Given the description of an element on the screen output the (x, y) to click on. 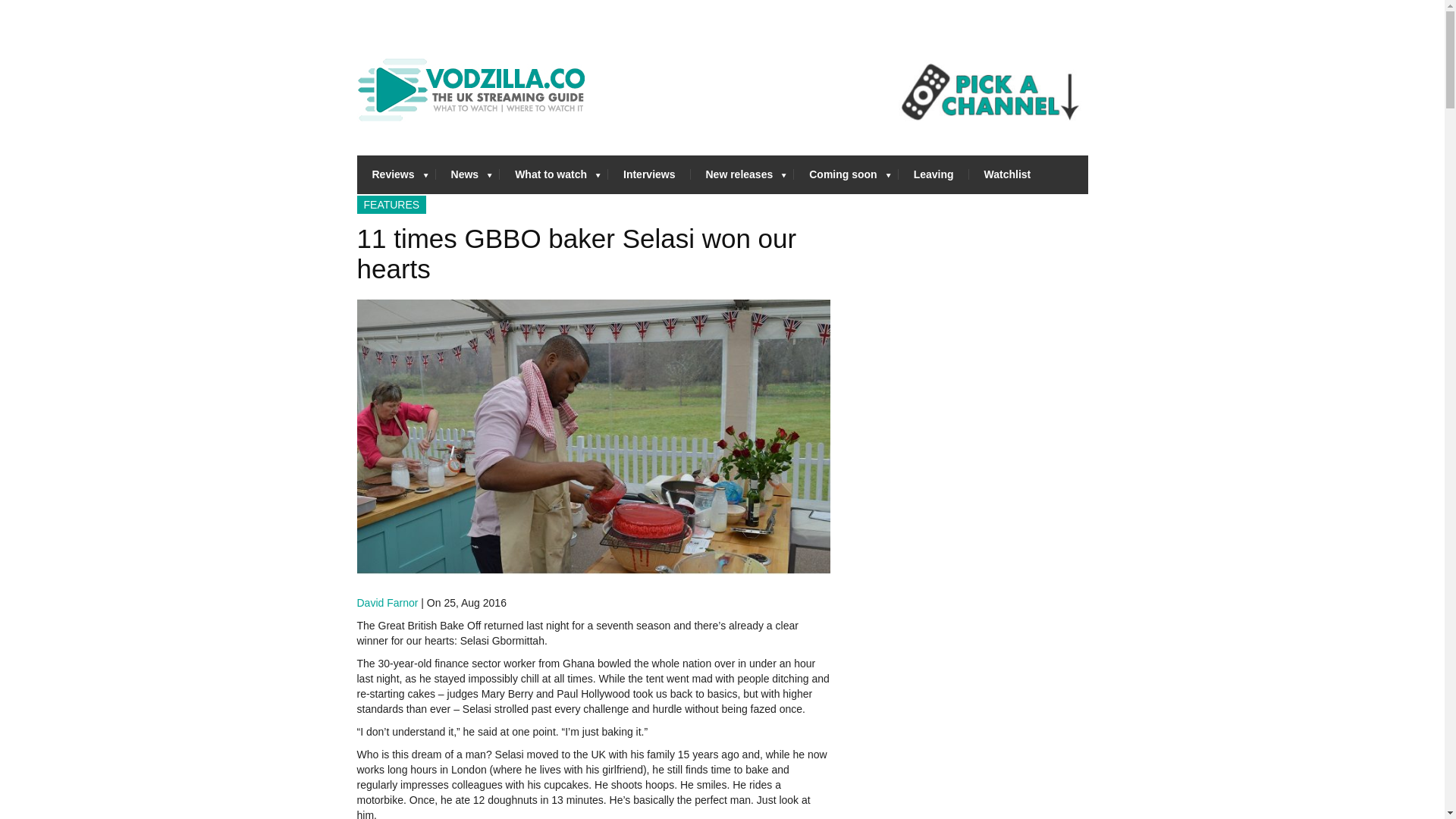
New releases (741, 174)
Coming soon (845, 174)
Interviews (649, 174)
